Given the description of an element on the screen output the (x, y) to click on. 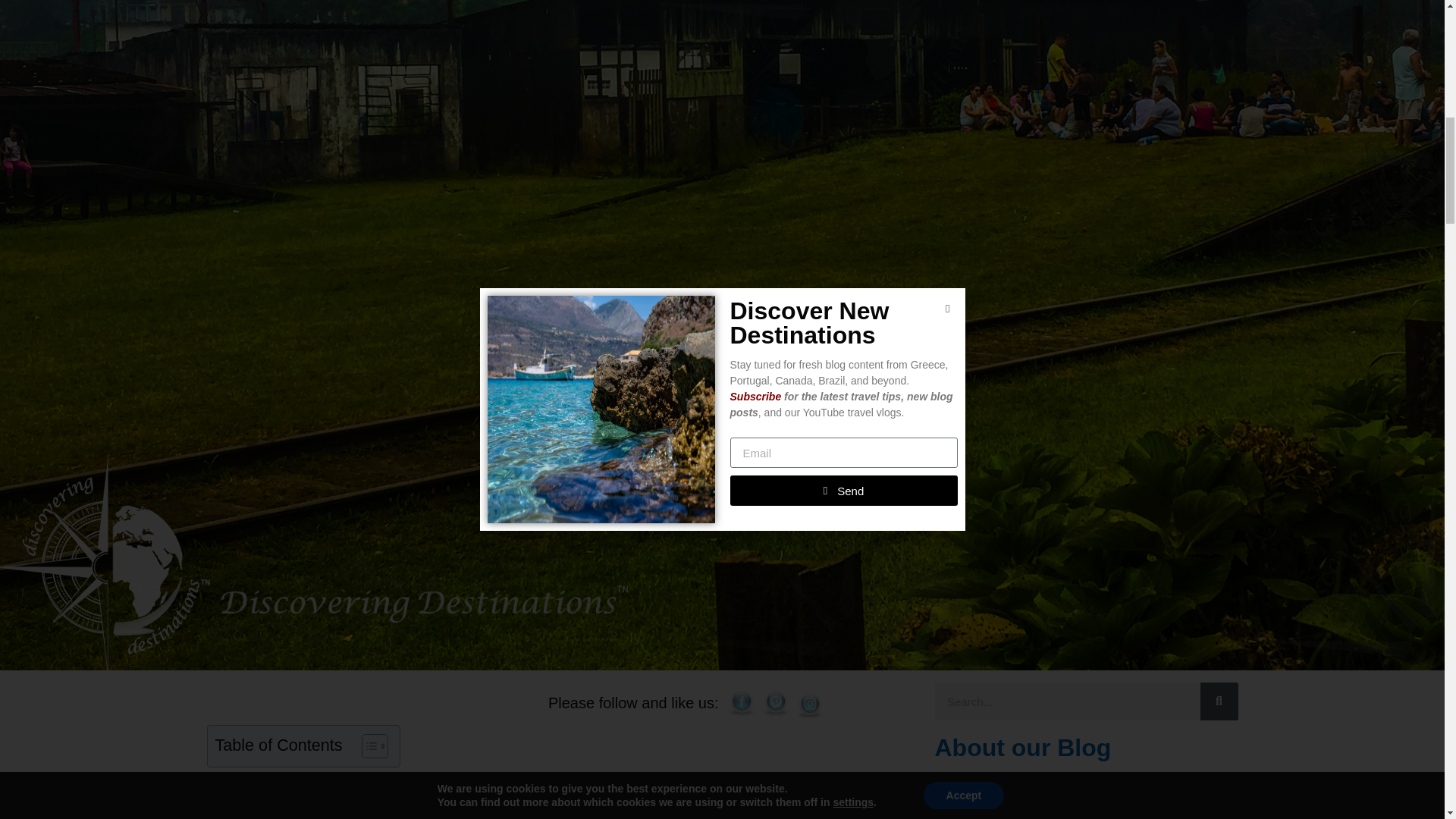
Pinterest (775, 703)
Facebook (741, 703)
Instagram (809, 705)
